Given the description of an element on the screen output the (x, y) to click on. 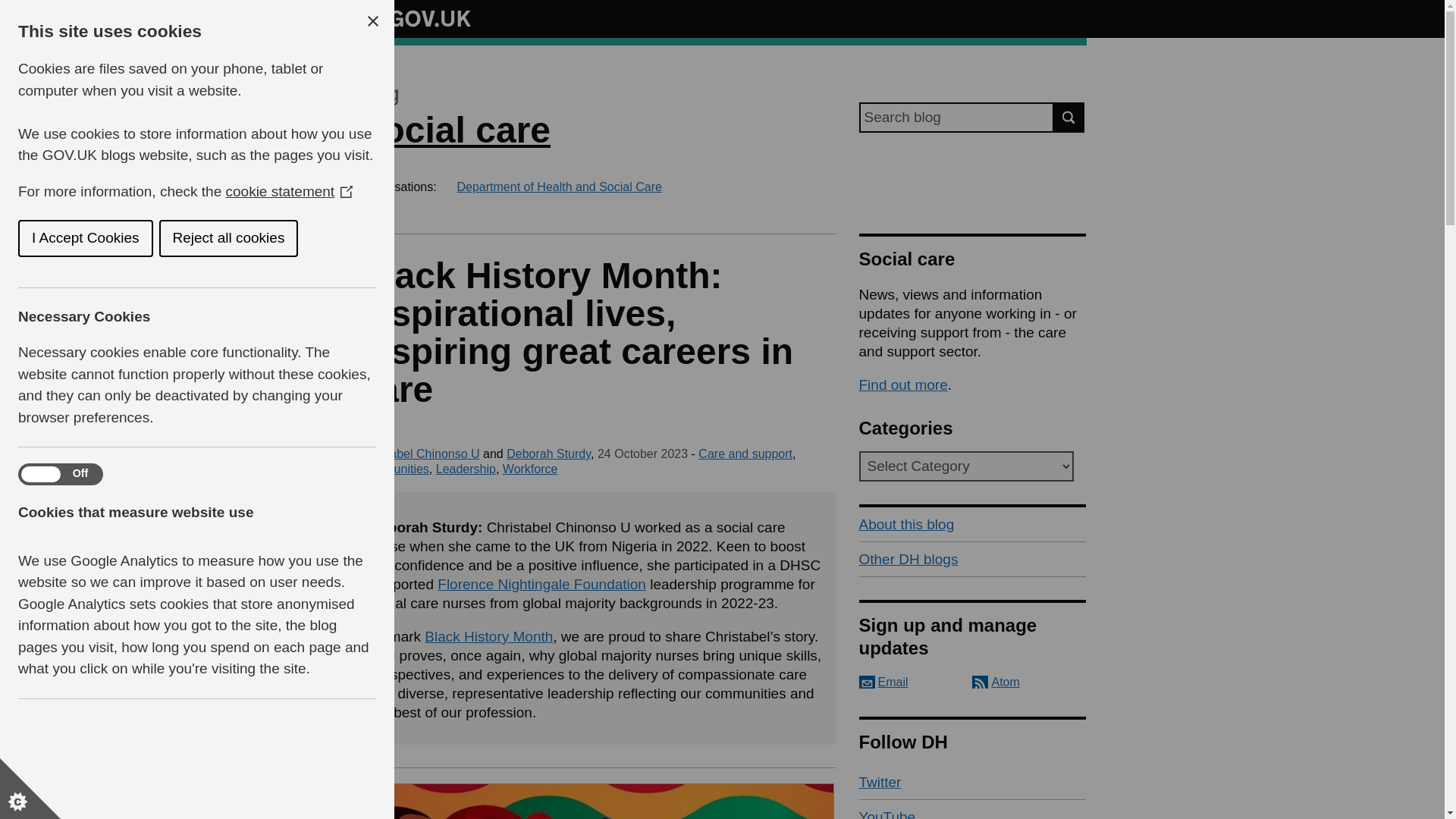
Workforce (529, 468)
Black History Month (489, 636)
About this blog (972, 524)
Go to the GOV.UK homepage (414, 18)
Florence Nightingale Foundation (542, 584)
Care and support (745, 453)
Social care (454, 129)
Blog (378, 93)
Email (883, 681)
Skip to main content (11, 7)
